Given the description of an element on the screen output the (x, y) to click on. 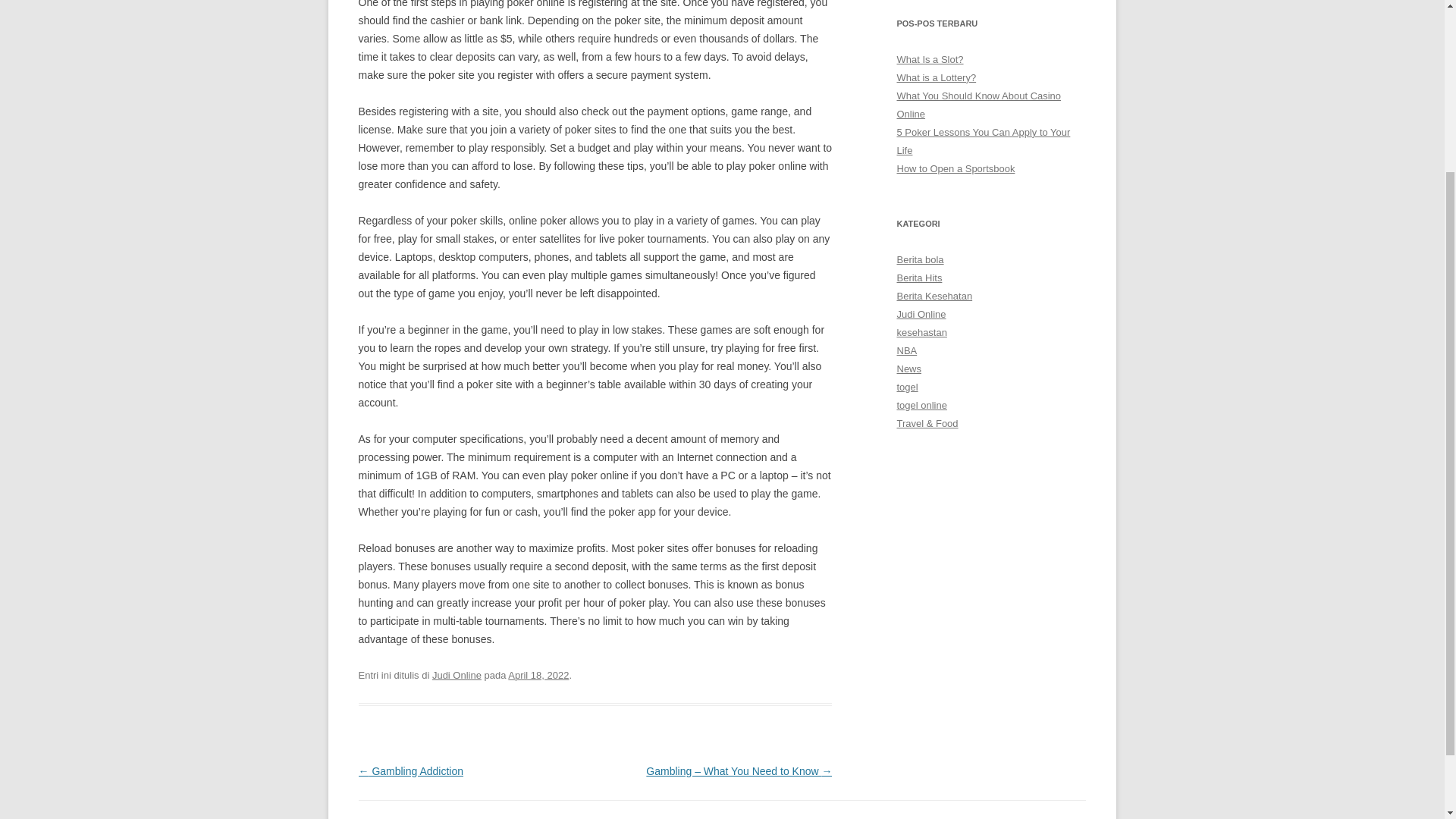
8:00 am (538, 674)
Berita Kesehatan (934, 296)
togel (906, 387)
kesehastan (921, 332)
Judi Online (456, 674)
togel online (921, 405)
Judi Online (920, 314)
5 Poker Lessons You Can Apply to Your Life (983, 141)
What is a Lottery? (935, 77)
NBA (906, 350)
